Given the description of an element on the screen output the (x, y) to click on. 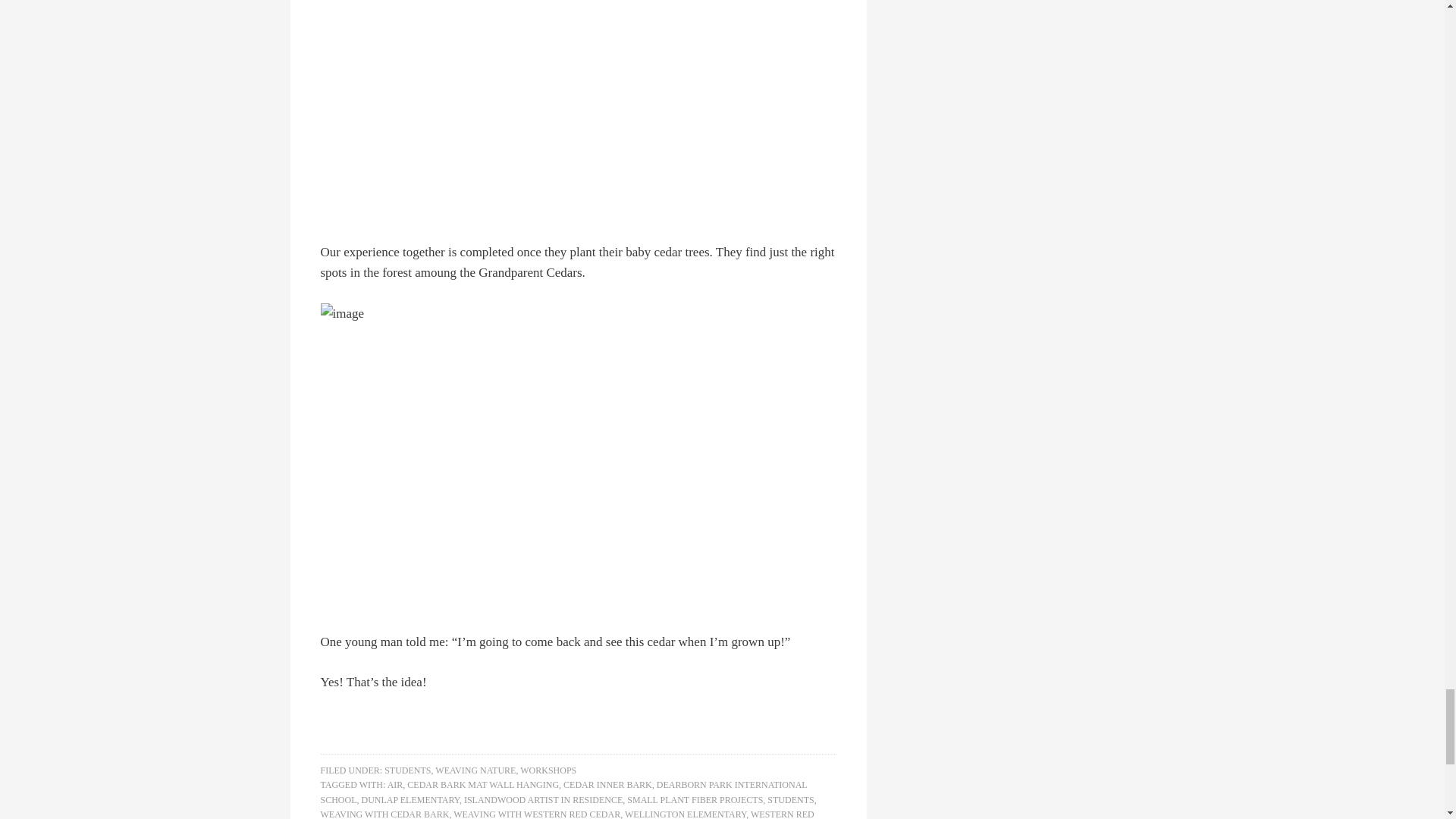
WEAVING NATURE (475, 769)
WEAVING WITH CEDAR BARK (384, 814)
CEDAR BARK MAT WALL HANGING (483, 784)
WESTERN RED CEDAR (566, 814)
AIR (395, 784)
WELLINGTON ELEMENTARY (684, 814)
STUDENTS (407, 769)
CEDAR INNER BARK (607, 784)
SMALL PLANT FIBER PROJECTS (694, 799)
ISLANDWOOD ARTIST IN RESIDENCE (543, 799)
